Given the description of an element on the screen output the (x, y) to click on. 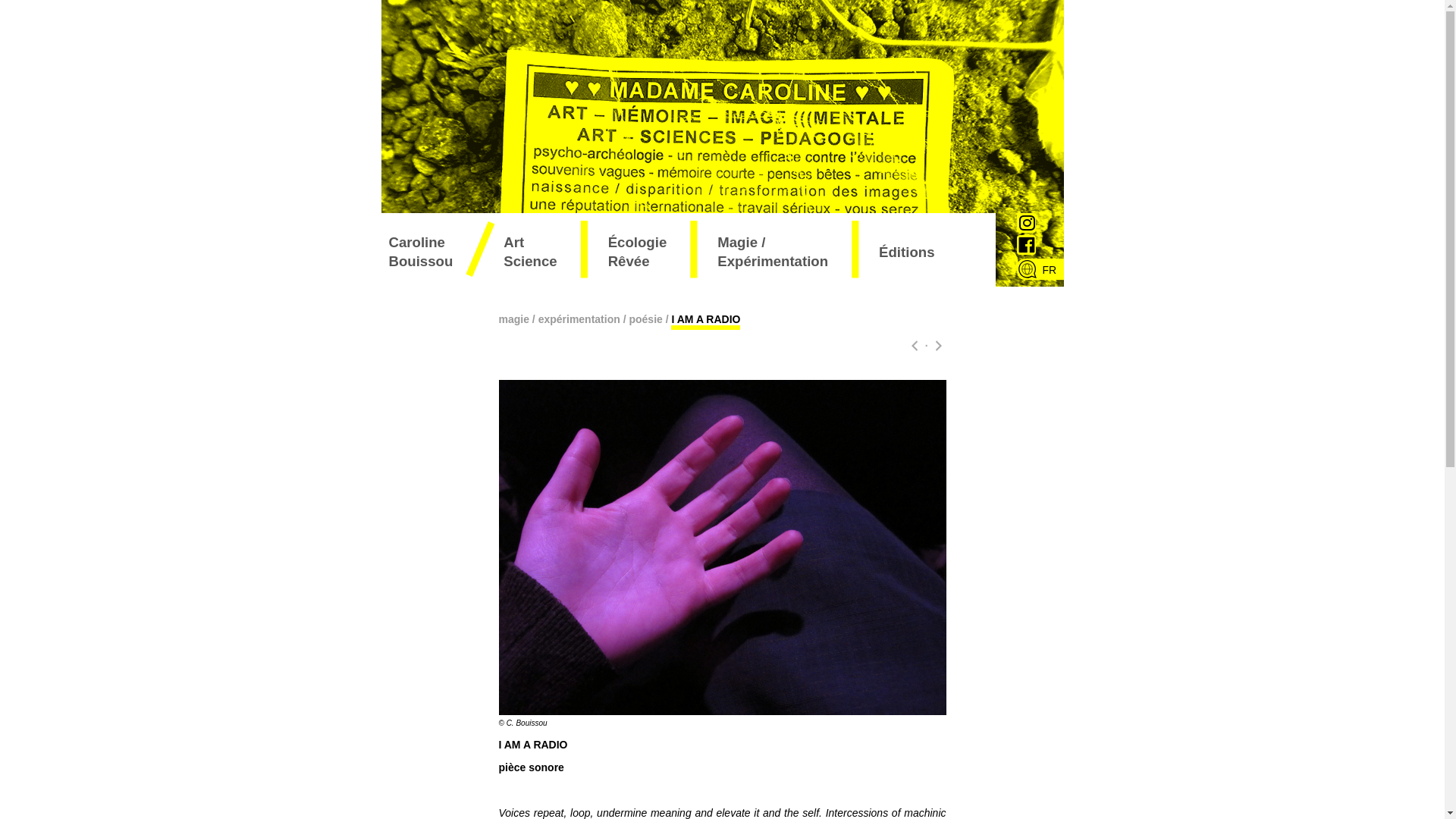
Art Science (533, 252)
art science (533, 252)
Caroline Bouissou (434, 252)
Caroline Bouissou (434, 252)
